Given the description of an element on the screen output the (x, y) to click on. 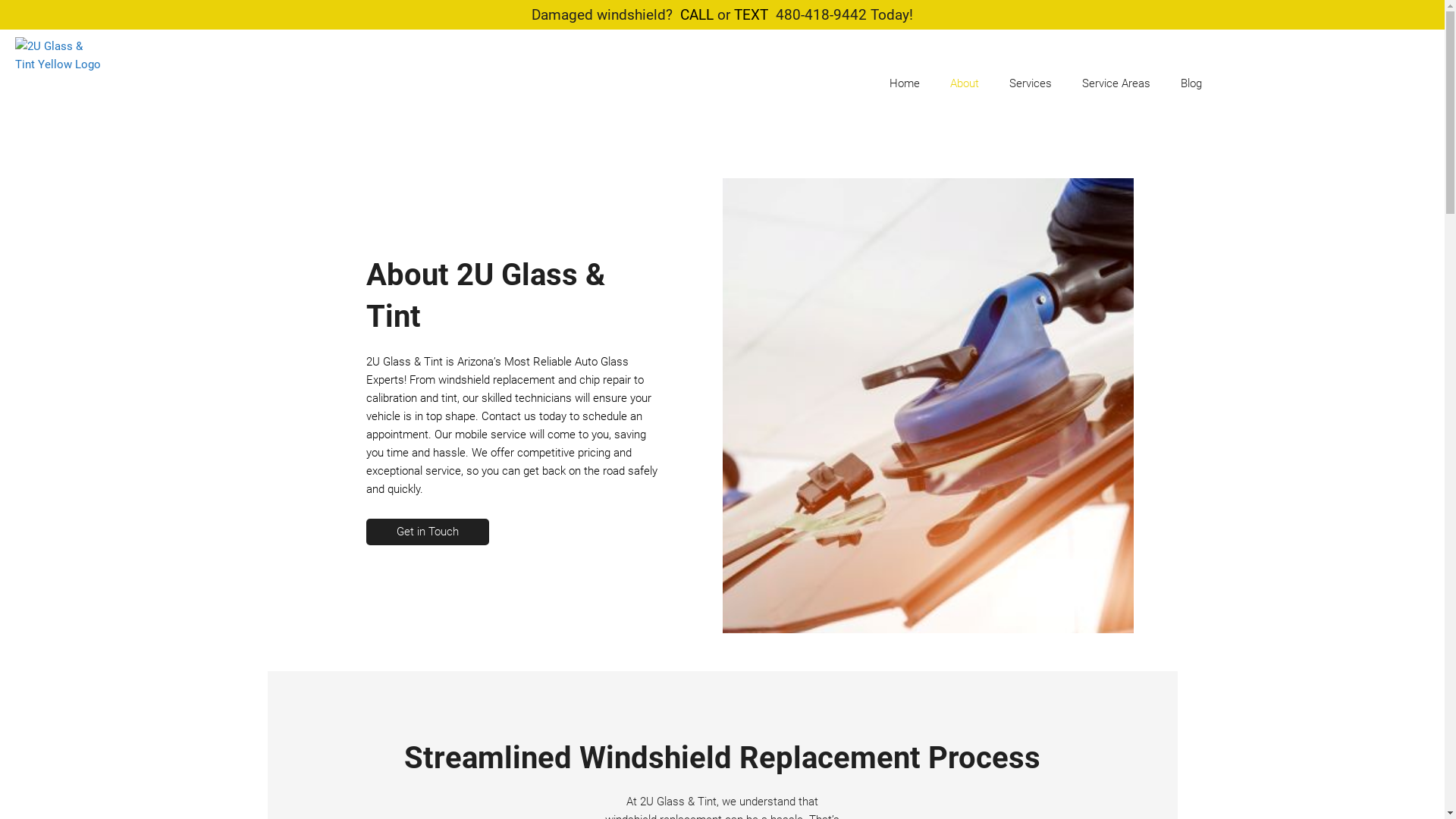
About Element type: text (964, 83)
Home Element type: text (904, 83)
Services Element type: text (1030, 83)
Blog Element type: text (1191, 83)
CALL Element type: text (696, 14)
Service Areas Element type: text (1115, 83)
Get in Touch Element type: text (426, 531)
TEXT Element type: text (751, 14)
